Given the description of an element on the screen output the (x, y) to click on. 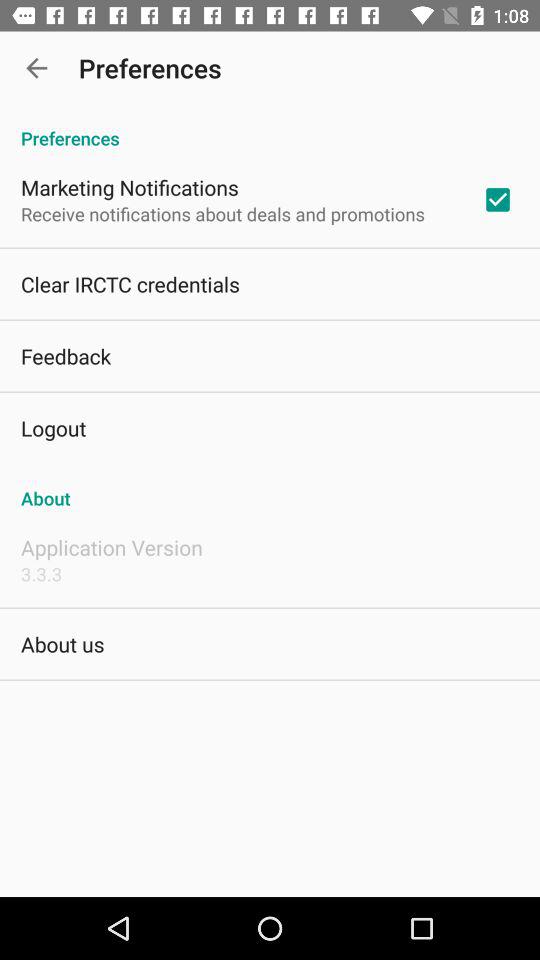
open the item above the preferences icon (36, 68)
